Given the description of an element on the screen output the (x, y) to click on. 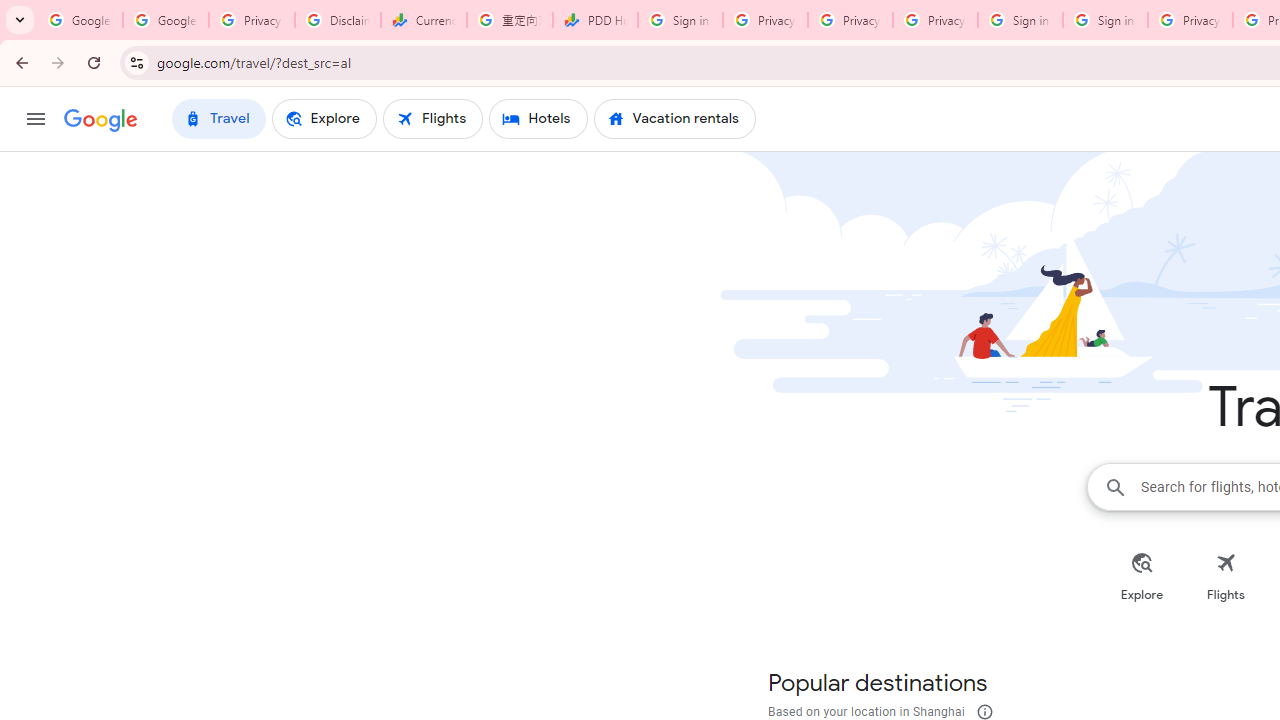
Sign in - Google Accounts (680, 20)
Privacy Checkup (935, 20)
Vacation rentals (674, 118)
Hotels (537, 118)
PDD Holdings Inc - ADR (PDD) Price & News - Google Finance (595, 20)
Sign in - Google Accounts (1020, 20)
Flights (1226, 576)
Privacy Checkup (850, 20)
Sign in - Google Accounts (1105, 20)
